Given the description of an element on the screen output the (x, y) to click on. 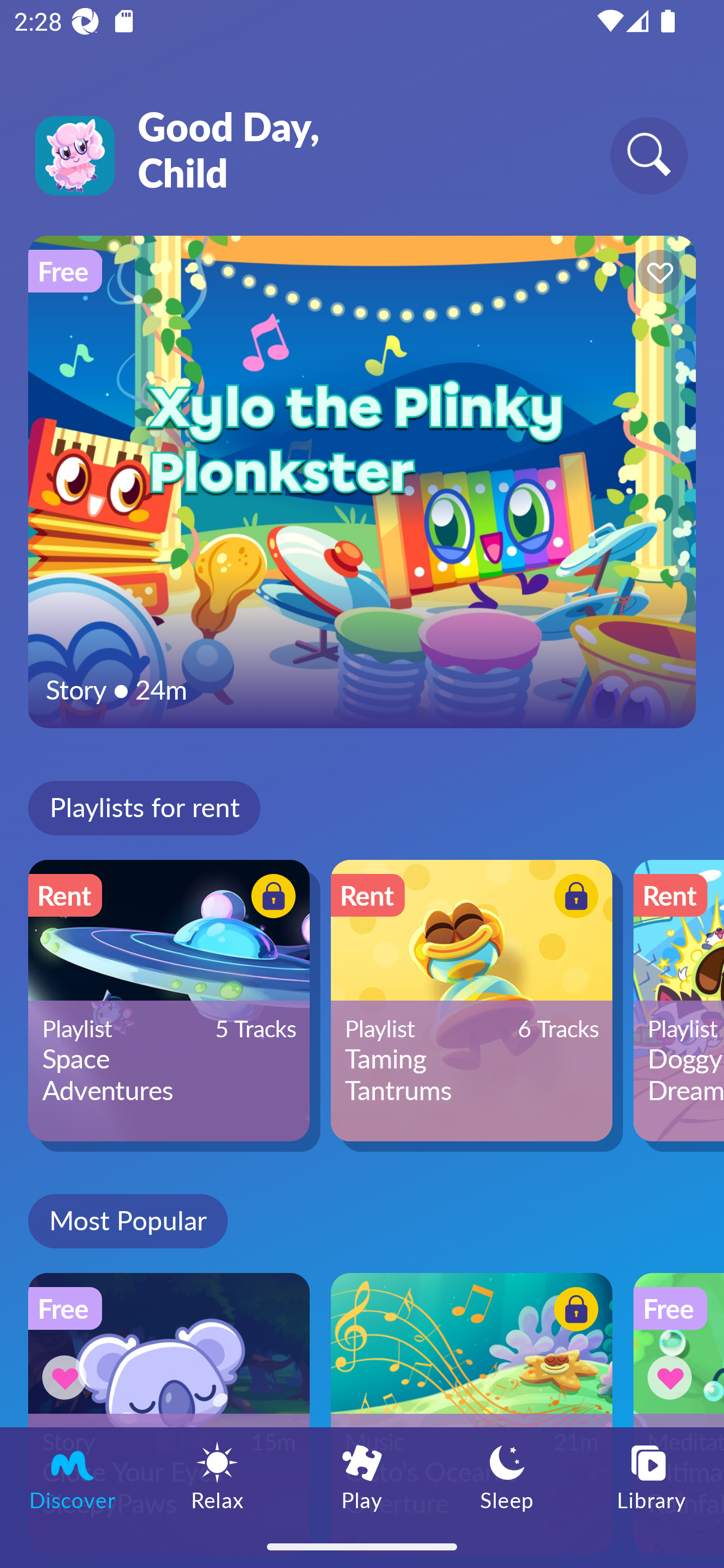
Search (648, 154)
Featured Content Free Button Story ● 24m (361, 481)
Button (656, 274)
Button (269, 898)
Button (573, 898)
Button (573, 1312)
Button (67, 1377)
Button (672, 1377)
Relax (216, 1475)
Play (361, 1475)
Sleep (506, 1475)
Library (651, 1475)
